Given the description of an element on the screen output the (x, y) to click on. 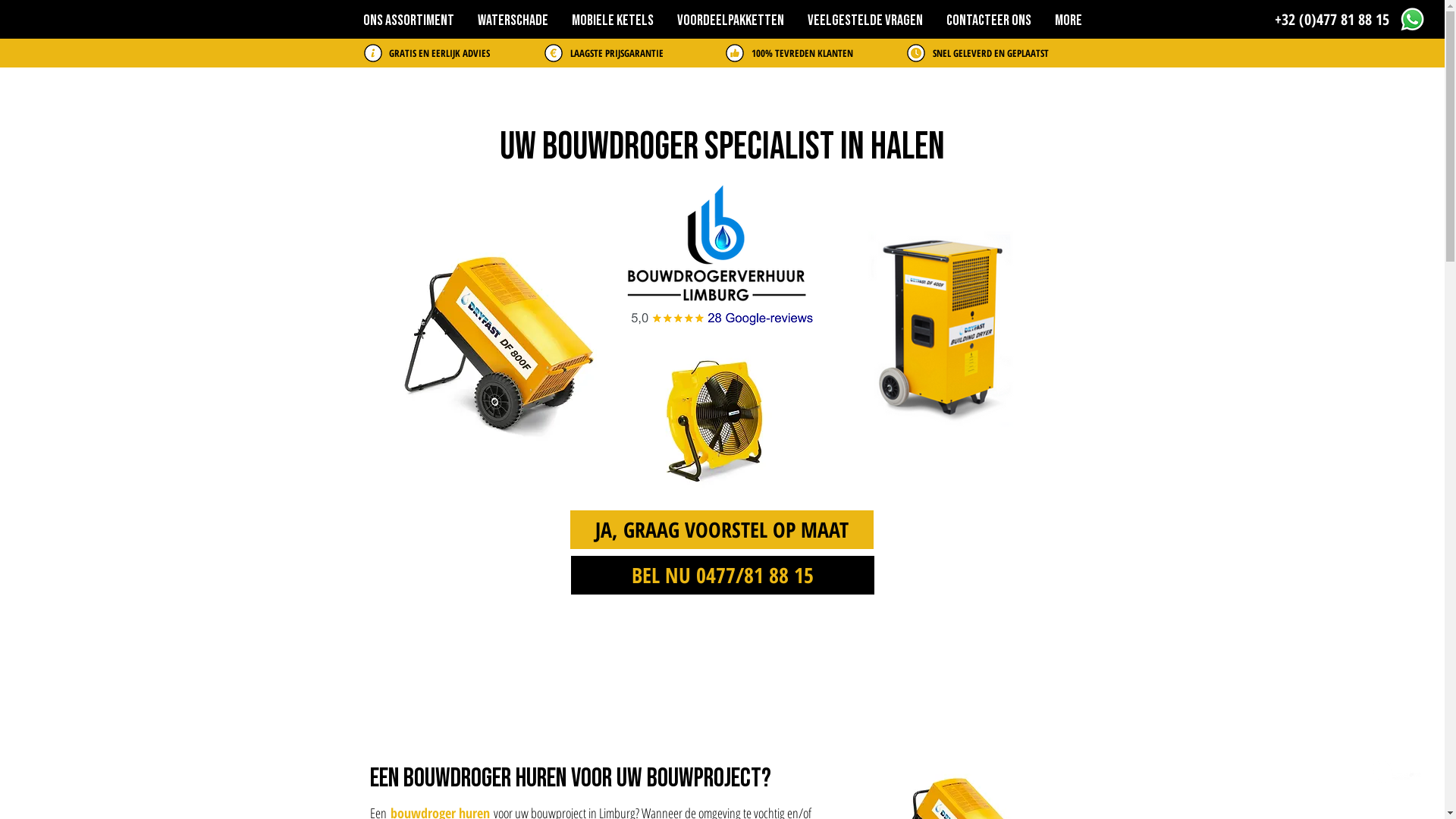
WATERSCHADE Element type: text (512, 18)
BEL NU 0477/81 88 15 Element type: text (721, 574)
VOORDEELPAKKETTEN Element type: text (730, 18)
MOBIELE KETELS Element type: text (612, 18)
+32 (0)477 81 88 15 Element type: text (1331, 19)
CONTACTEER ONS Element type: text (988, 18)
JA, GRAAG VOORSTEL OP MAAT Element type: text (721, 529)
ONS ASSORTIMENT Element type: text (407, 18)
UW BOUWDROGER SPECIALIST IN HALEN Element type: text (721, 145)
EEN BOUWDROGER HUREN VOOR UW BOUWPROJECT? Element type: text (570, 776)
VEELGESTELDE VRAGEN Element type: text (865, 18)
